Given the description of an element on the screen output the (x, y) to click on. 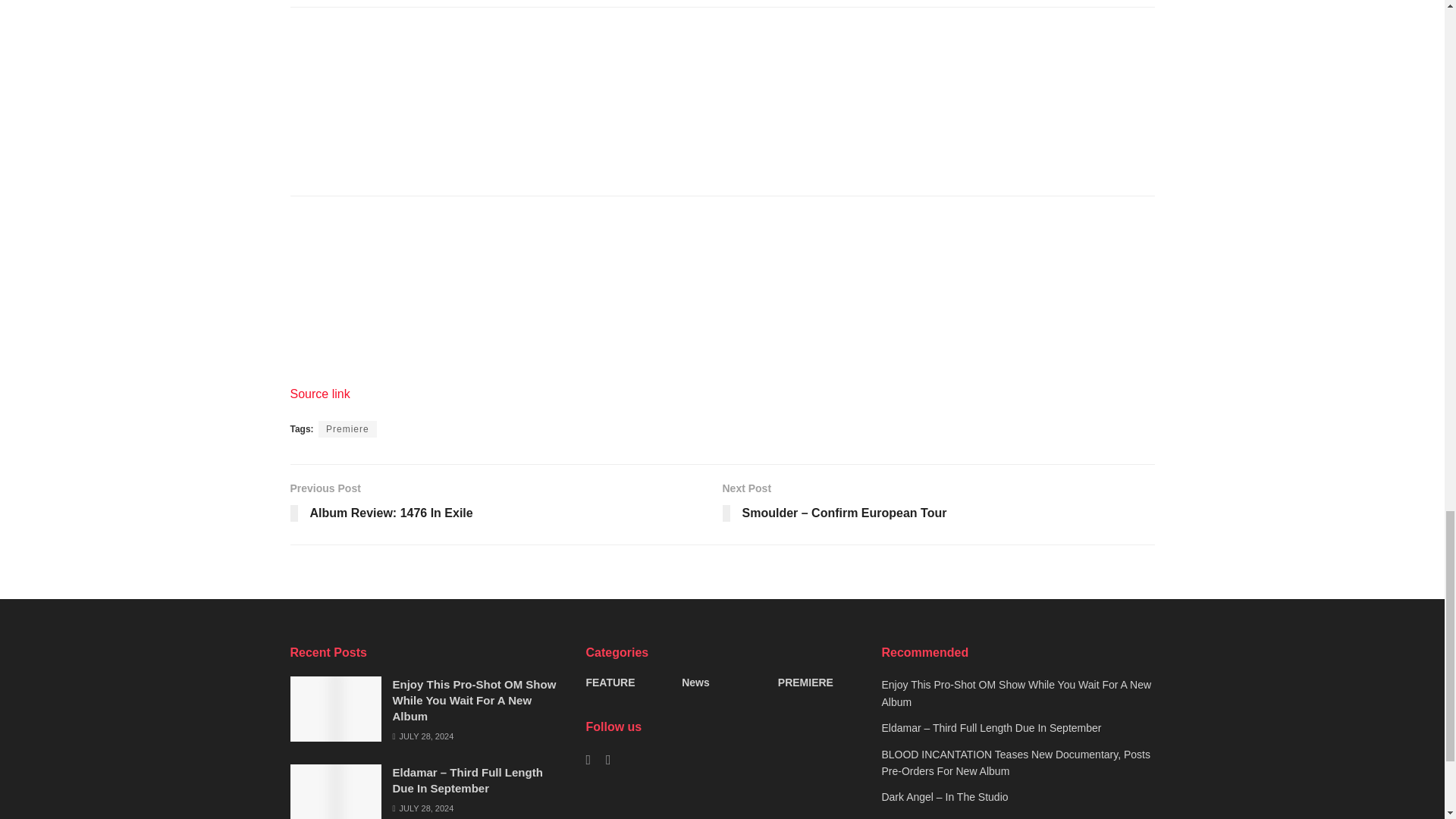
FEATURE (609, 682)
Enjoy This Pro-Shot OM Show While You Wait For A New Album (474, 700)
News (505, 504)
Premiere (695, 682)
Source link (347, 428)
PREMIERE (319, 393)
